Given the description of an element on the screen output the (x, y) to click on. 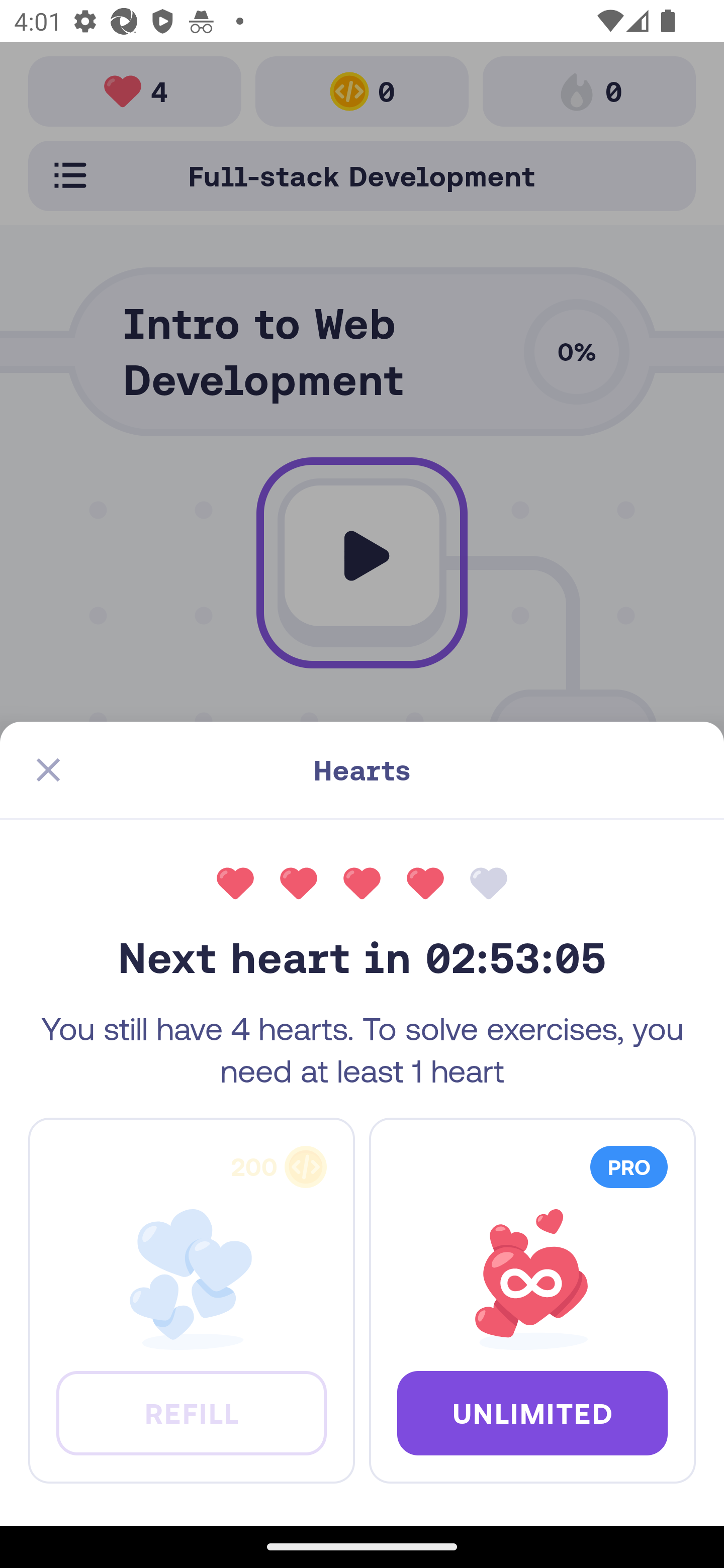
Close (47, 769)
REFILL (191, 1412)
UNLIMITED (532, 1412)
